Given the description of an element on the screen output the (x, y) to click on. 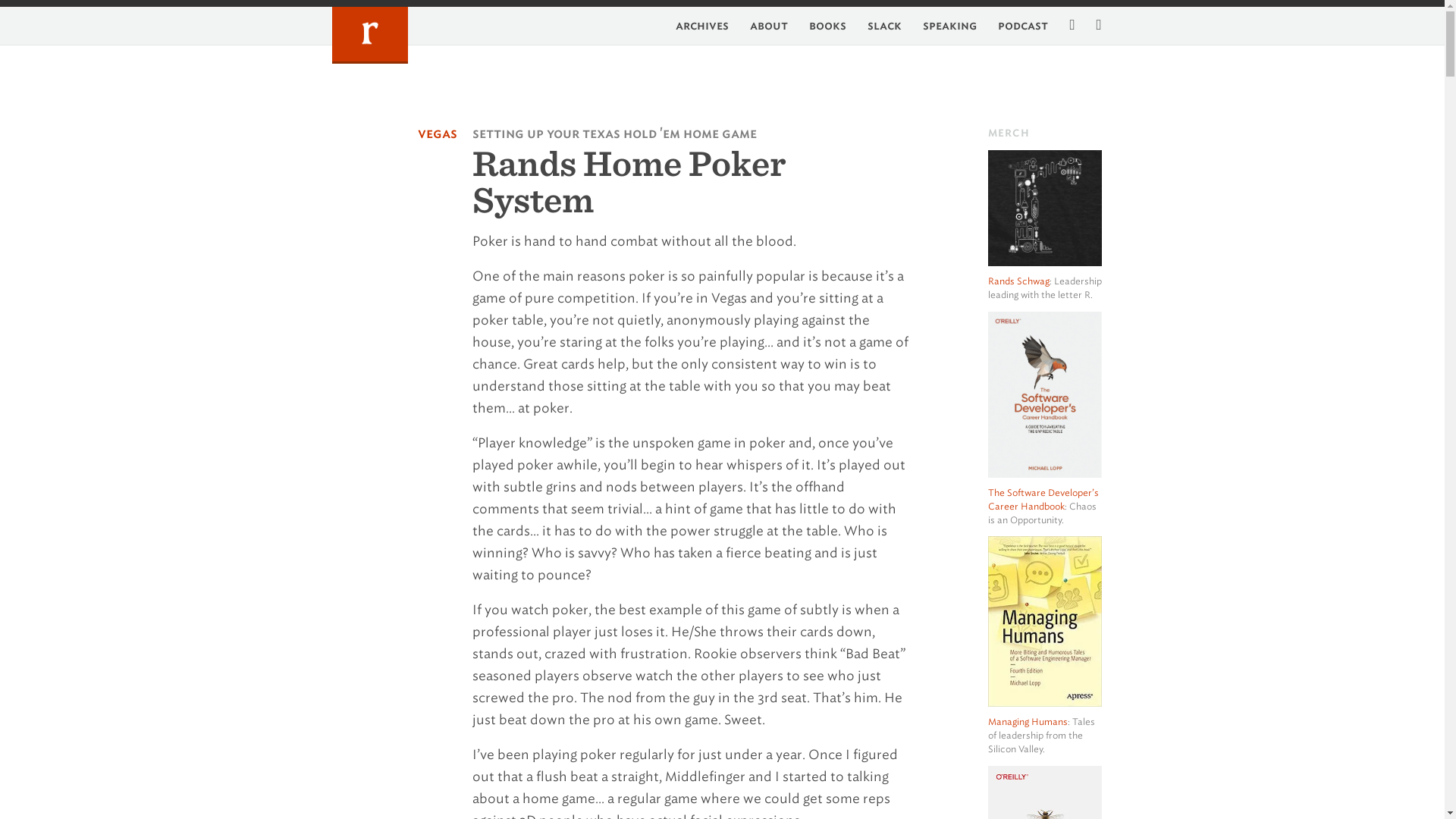
archives (693, 25)
slack (874, 25)
about (759, 25)
speaking (940, 25)
twitter (1088, 25)
vegas (436, 133)
feed (1062, 25)
books (817, 25)
podcast (1013, 25)
Rands Schwag (1017, 281)
